Given the description of an element on the screen output the (x, y) to click on. 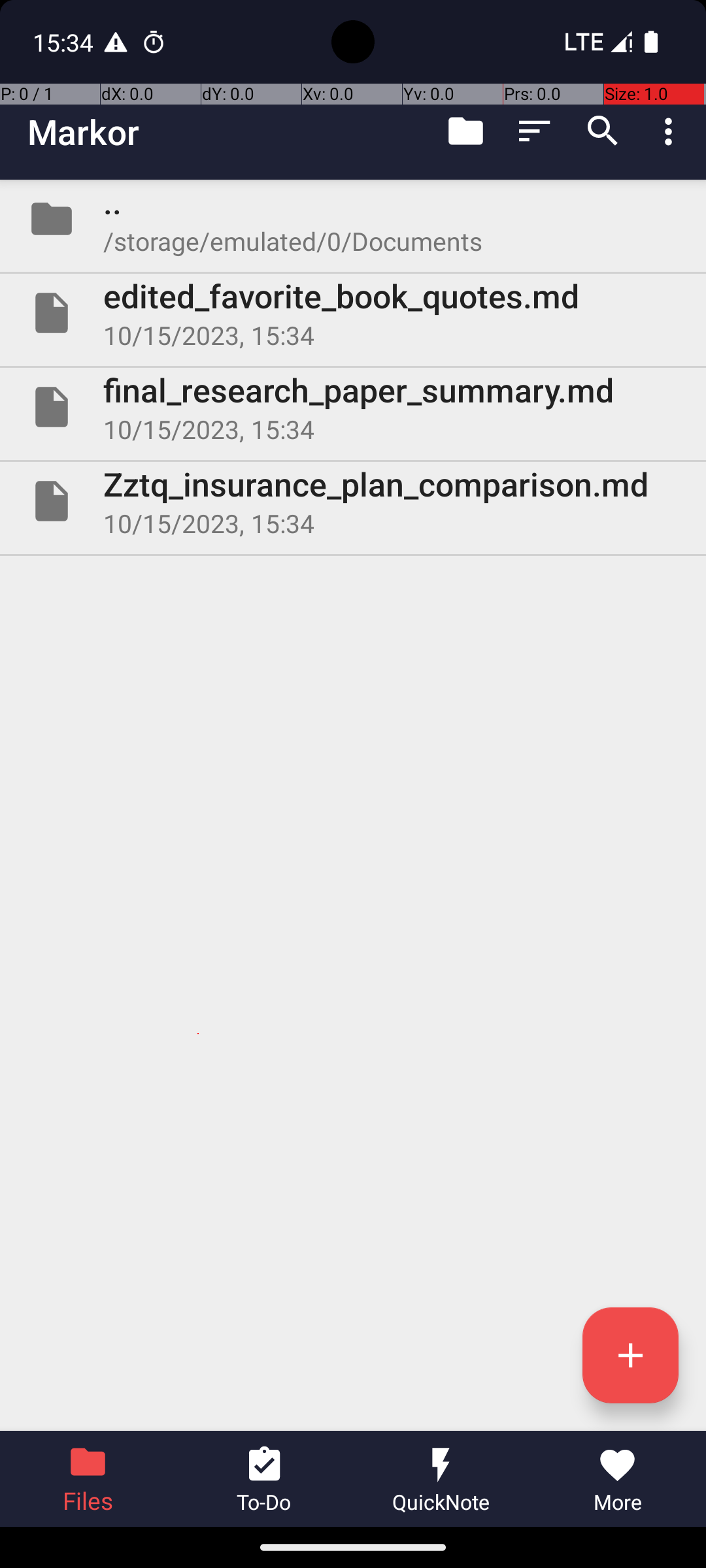
File edited_favorite_book_quotes.md  Element type: android.widget.LinearLayout (353, 312)
File final_research_paper_summary.md  Element type: android.widget.LinearLayout (353, 406)
File Zztq_insurance_plan_comparison.md  Element type: android.widget.LinearLayout (353, 500)
